Given the description of an element on the screen output the (x, y) to click on. 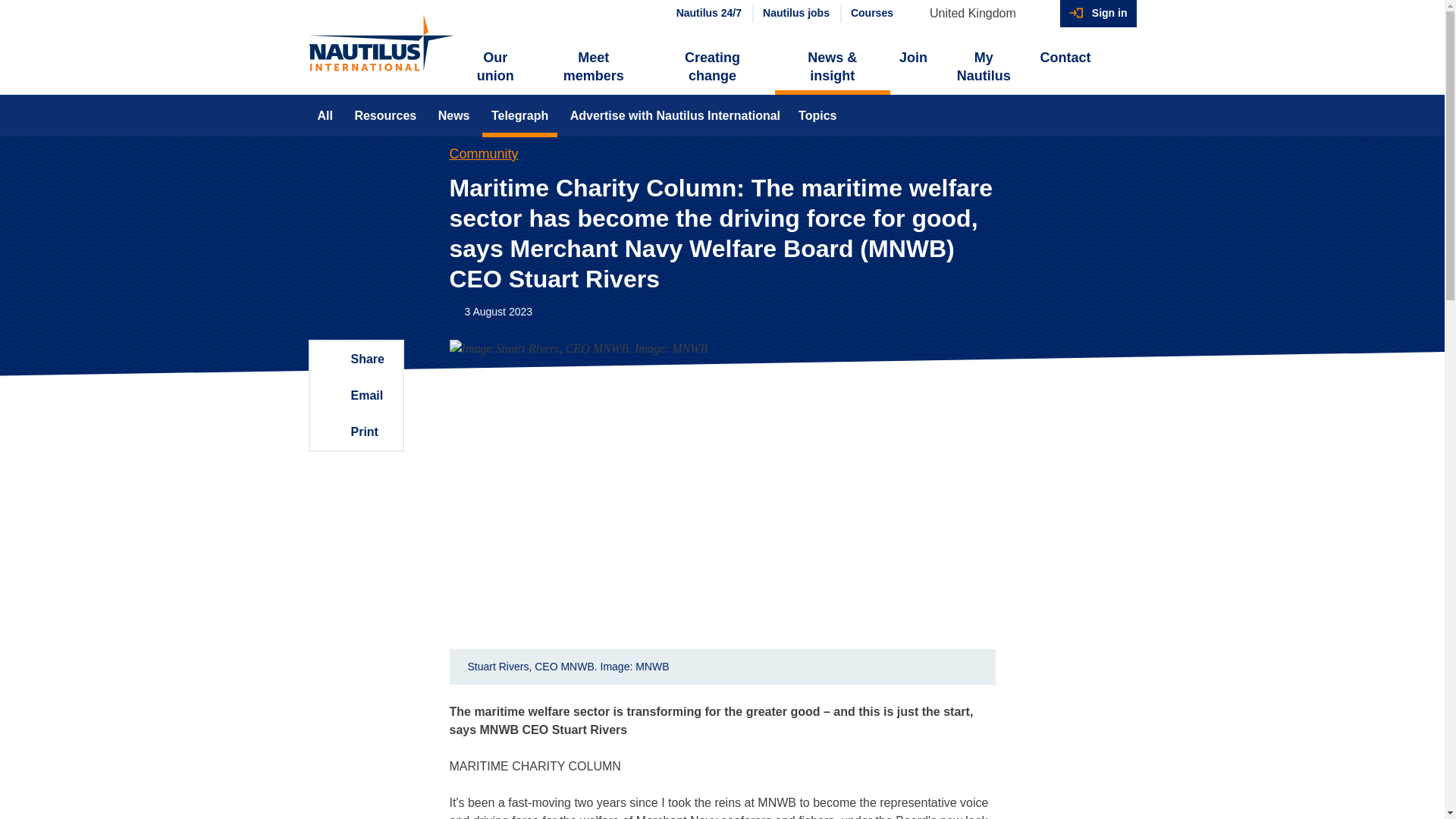
Join (912, 58)
Courses (871, 13)
United Kingdom (979, 13)
Meet members (593, 67)
Sign in (1098, 13)
Creating change (711, 67)
Contact (1065, 58)
Our union (495, 67)
My Nautilus (983, 67)
Nautilus jobs (795, 13)
